Given the description of an element on the screen output the (x, y) to click on. 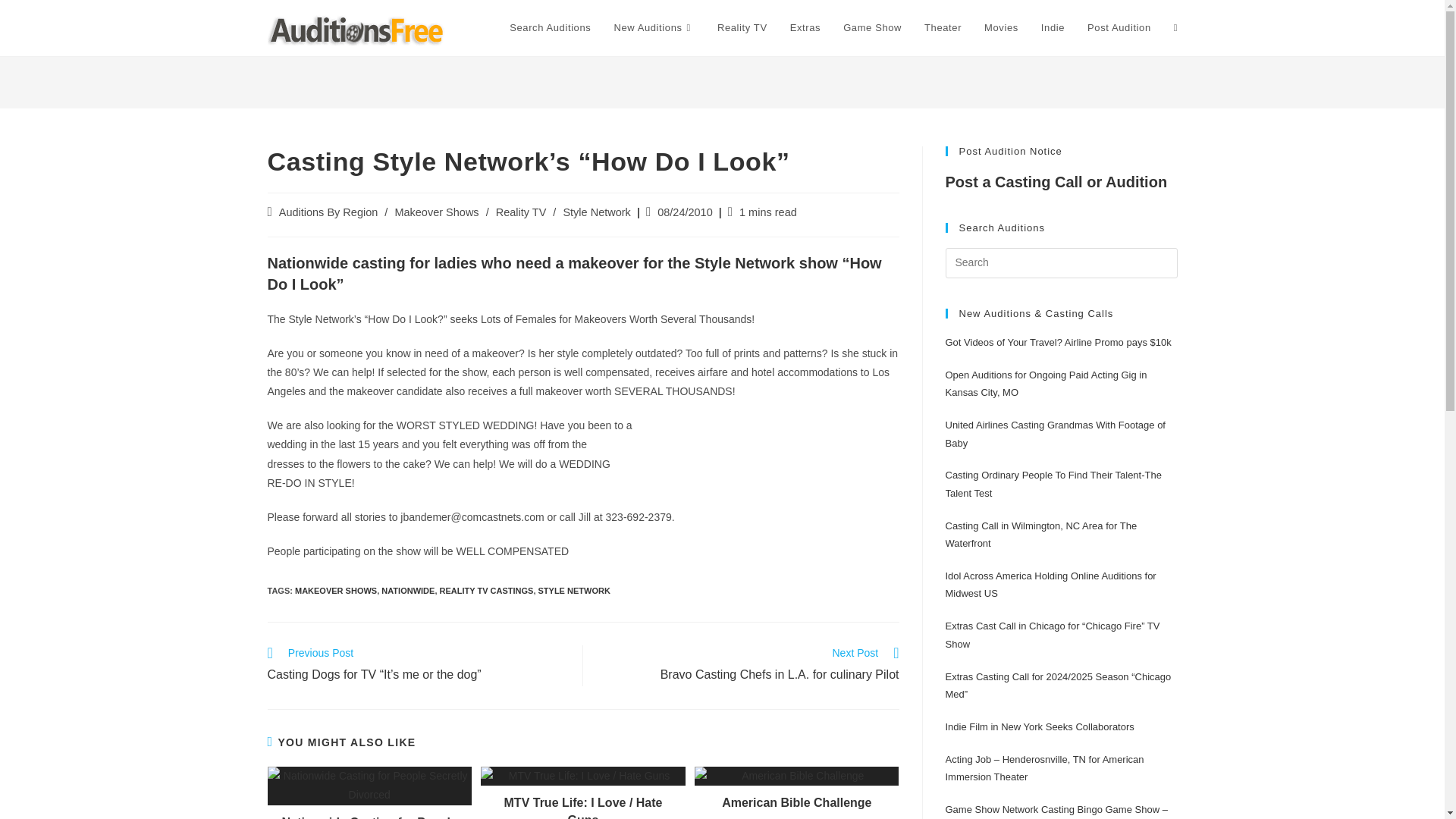
New Auditions (654, 28)
Makeover Shows (436, 212)
Post Audition (1118, 28)
Style Network (596, 212)
Auditions By Region (328, 212)
Movies (1000, 28)
Extras (804, 28)
Search Auditions (549, 28)
Reality TV (521, 212)
Reality TV (742, 28)
